Given the description of an element on the screen output the (x, y) to click on. 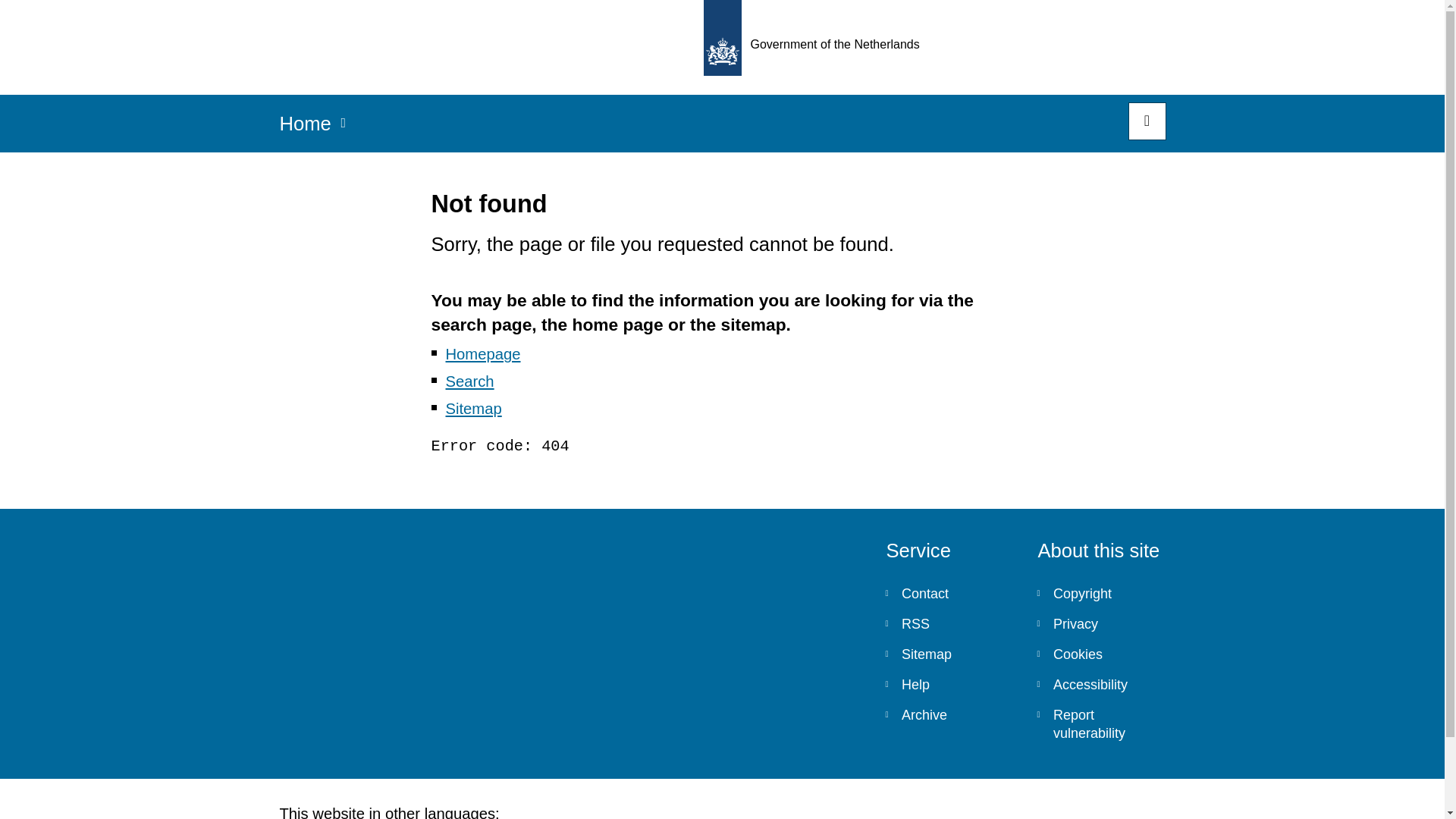
Archive (949, 715)
Contact (949, 593)
Report vulnerability (1100, 724)
Sitemap (473, 408)
Copyright (1100, 593)
Start search (1146, 121)
Home (304, 128)
Accessibility (1100, 684)
Help (949, 684)
Sitemap (949, 654)
